Given the description of an element on the screen output the (x, y) to click on. 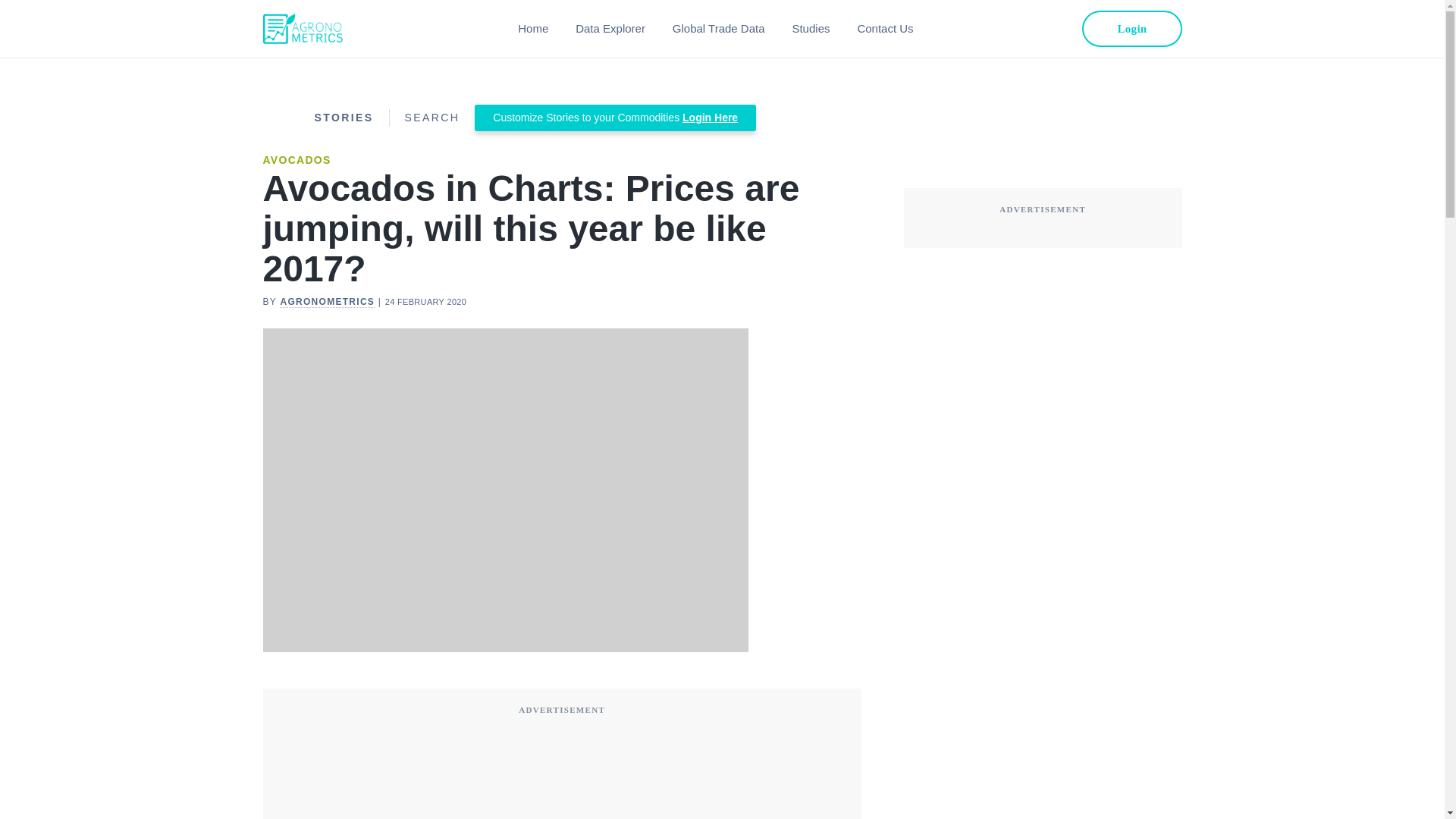
SEARCH (432, 117)
AGRONOMETRICS (326, 301)
Customize Stories to your Commodities Login Here (614, 117)
Global Trade Data (718, 28)
Data Explorer (610, 28)
AVOCADOS (296, 159)
STORIES (343, 117)
Contact Us (884, 28)
Login (1130, 28)
